Given the description of an element on the screen output the (x, y) to click on. 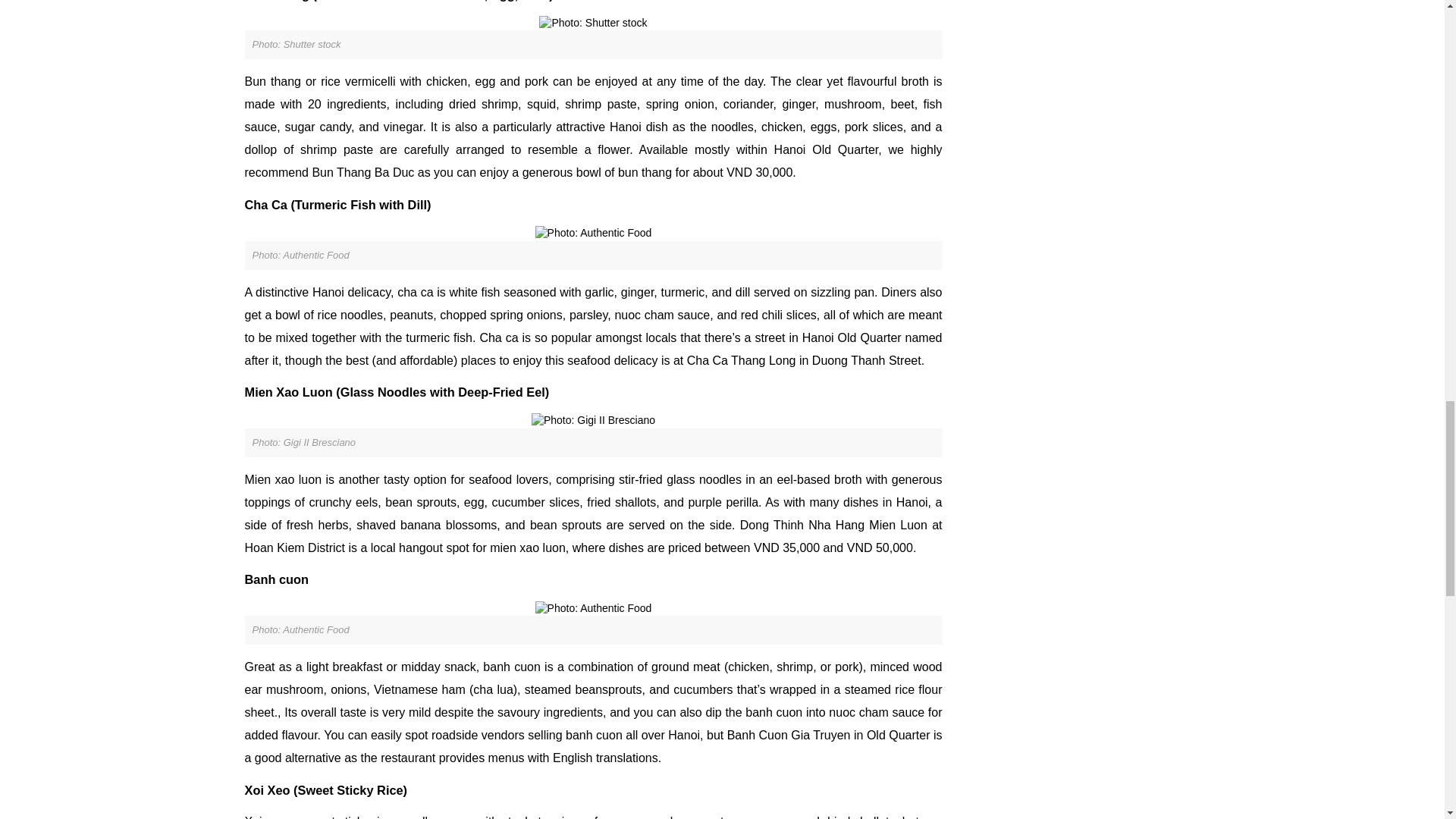
Photo: Gigi II Bresciano (593, 420)
Photo: Authentic Food (593, 233)
Photo: Authentic Food  (593, 608)
Photo: Shutter stock  (592, 23)
